Given the description of an element on the screen output the (x, y) to click on. 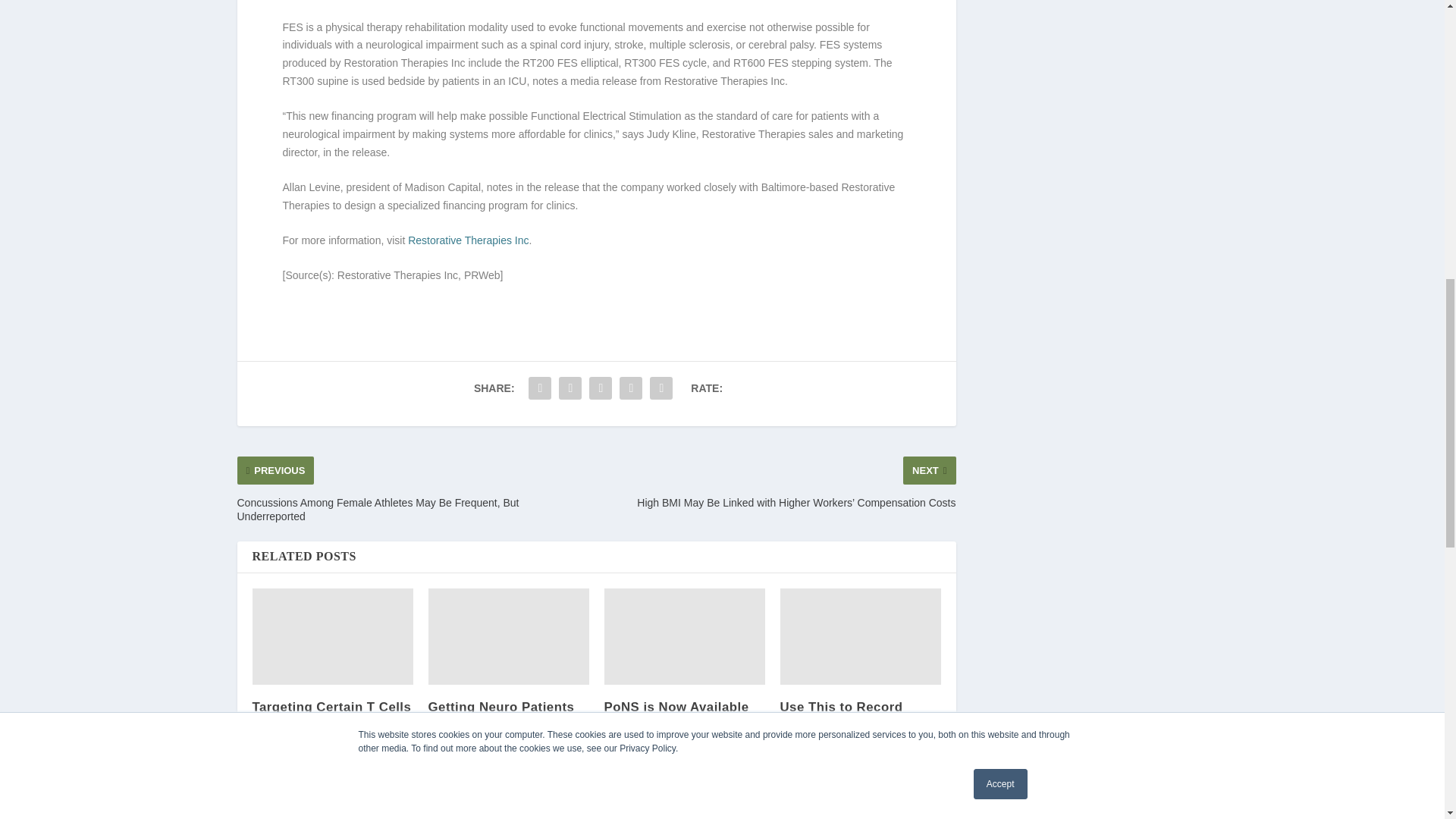
Use This to Record Subtle Changes in Patients with MS (859, 636)
Getting Neuro Patients Back On Their Feet (508, 636)
